Given the description of an element on the screen output the (x, y) to click on. 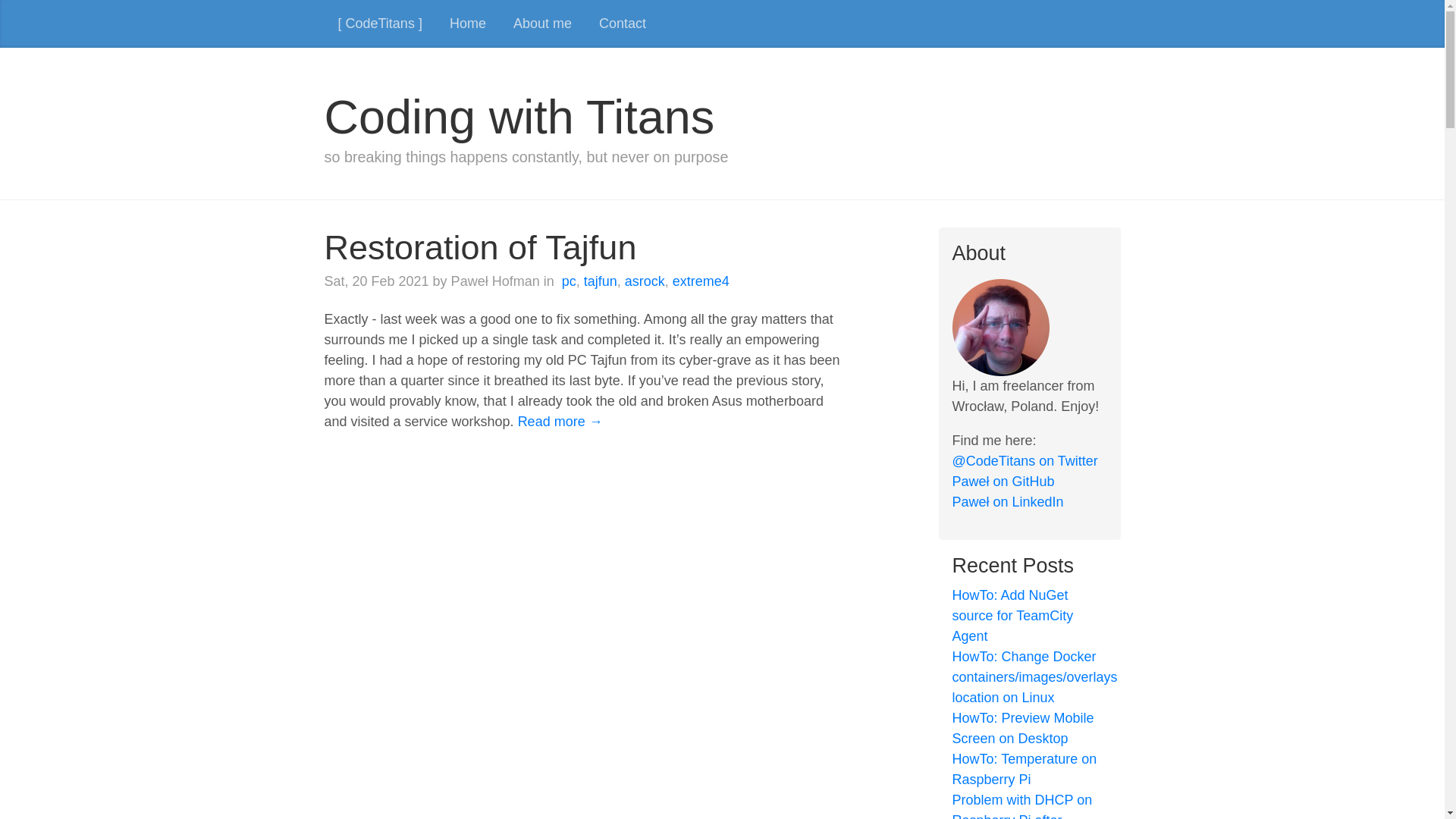
asrock (644, 281)
extreme4 (700, 281)
Home (467, 23)
About me (542, 23)
HowTo: Preview Mobile Screen on Desktop (1023, 728)
Restoration of Tajfun (480, 247)
Contact (622, 23)
Problem with DHCP on Raspberry Pi after update to bullseye (1022, 805)
Coding with Titans (519, 116)
HowTo: Temperature on Raspberry Pi (1024, 769)
HowTo: Add NuGet source for TeamCity Agent (1013, 615)
tajfun (600, 281)
pc (569, 281)
